Given the description of an element on the screen output the (x, y) to click on. 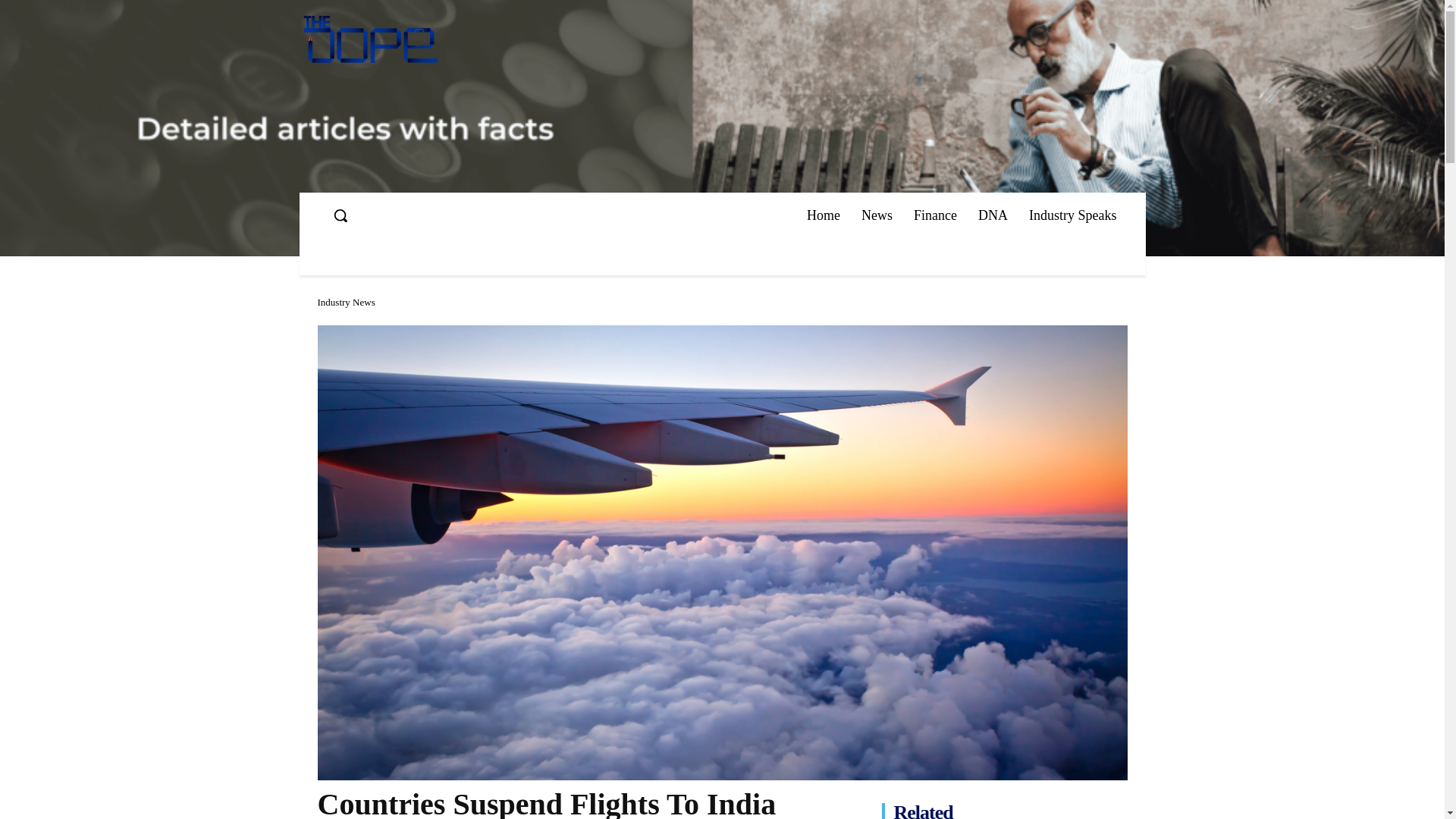
Finance (935, 215)
Industry News (345, 302)
Home (823, 215)
Industry Speaks (1071, 215)
DNA (992, 215)
News (876, 215)
